Given the description of an element on the screen output the (x, y) to click on. 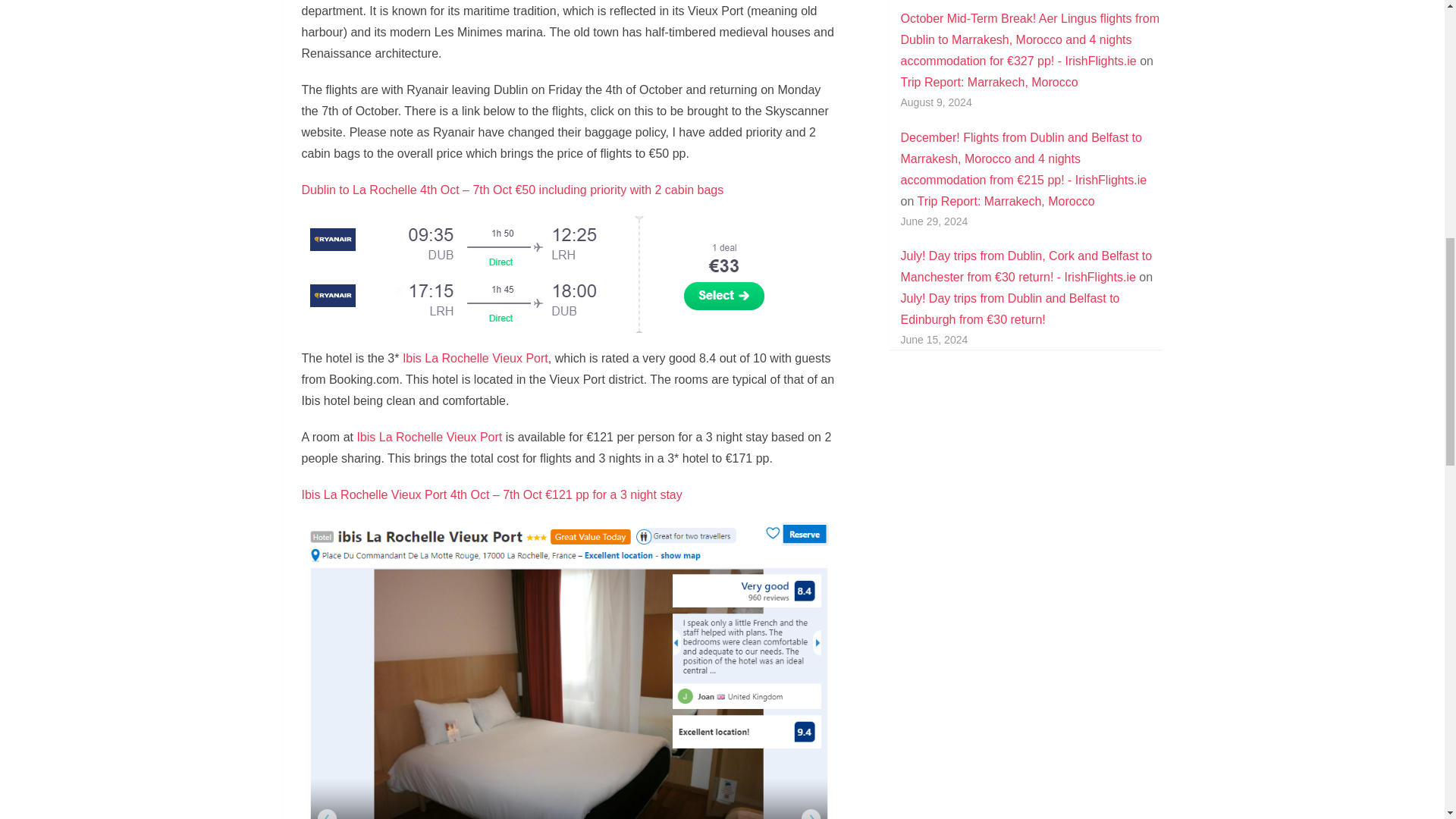
Trip Report: Marrakech, Morocco (1005, 201)
Trip Report: Marrakech, Morocco (989, 82)
Ibis La Rochelle Vieux Port (475, 358)
Ibis La Rochelle Vieux Port (429, 436)
